Given the description of an element on the screen output the (x, y) to click on. 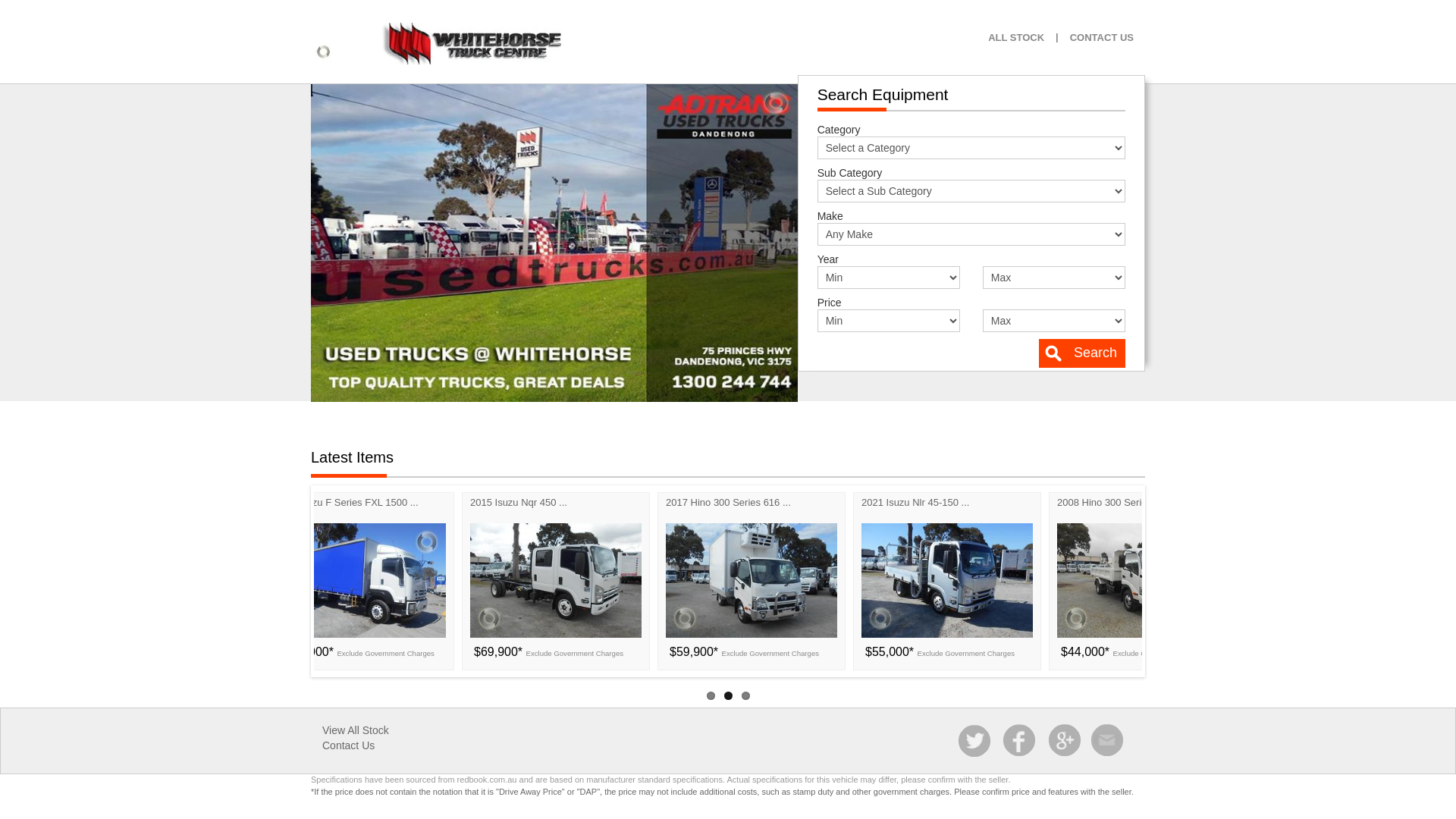
Contact Us Element type: text (348, 745)
Share us on Facebook Element type: hover (1019, 740)
Google+ Element type: hover (1063, 740)
ALL STOCK Element type: text (1015, 37)
Search Element type: text (1081, 352)
1 Element type: text (710, 695)
CONTACT US Element type: text (1101, 37)
Contact information Element type: hover (1107, 740)
View All Stock Element type: text (355, 730)
2015 Isuzu Nqr 450 ...
$69,900* Exclude Government Charges Element type: text (588, 579)
3 Element type: text (745, 695)
Share us on Twitter Element type: hover (975, 740)
2 Element type: text (727, 695)
Whitehorse Used Trucks Dandenong South Element type: hover (473, 43)
